Given the description of an element on the screen output the (x, y) to click on. 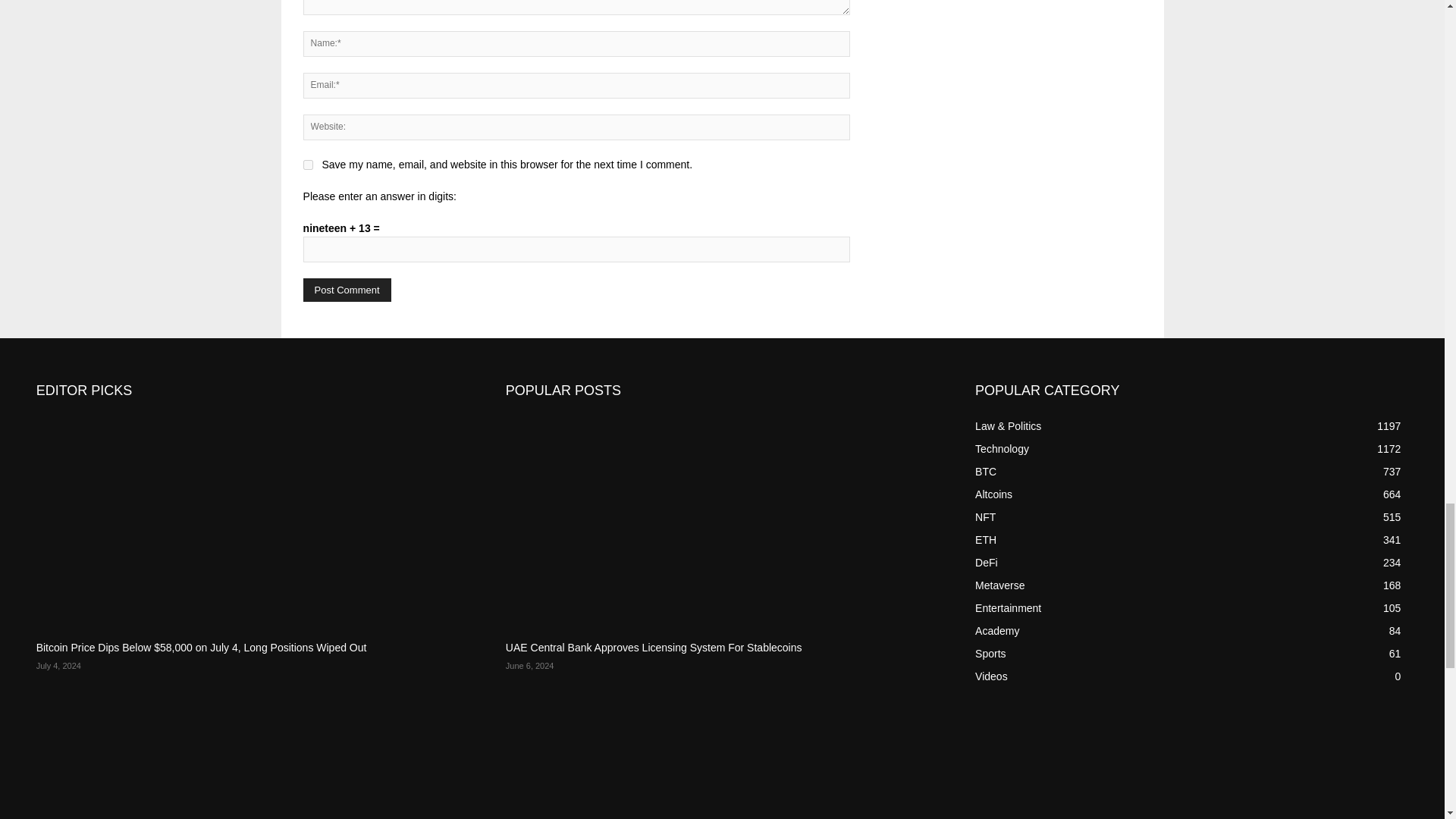
yes (307, 164)
Post Comment (346, 290)
